Given the description of an element on the screen output the (x, y) to click on. 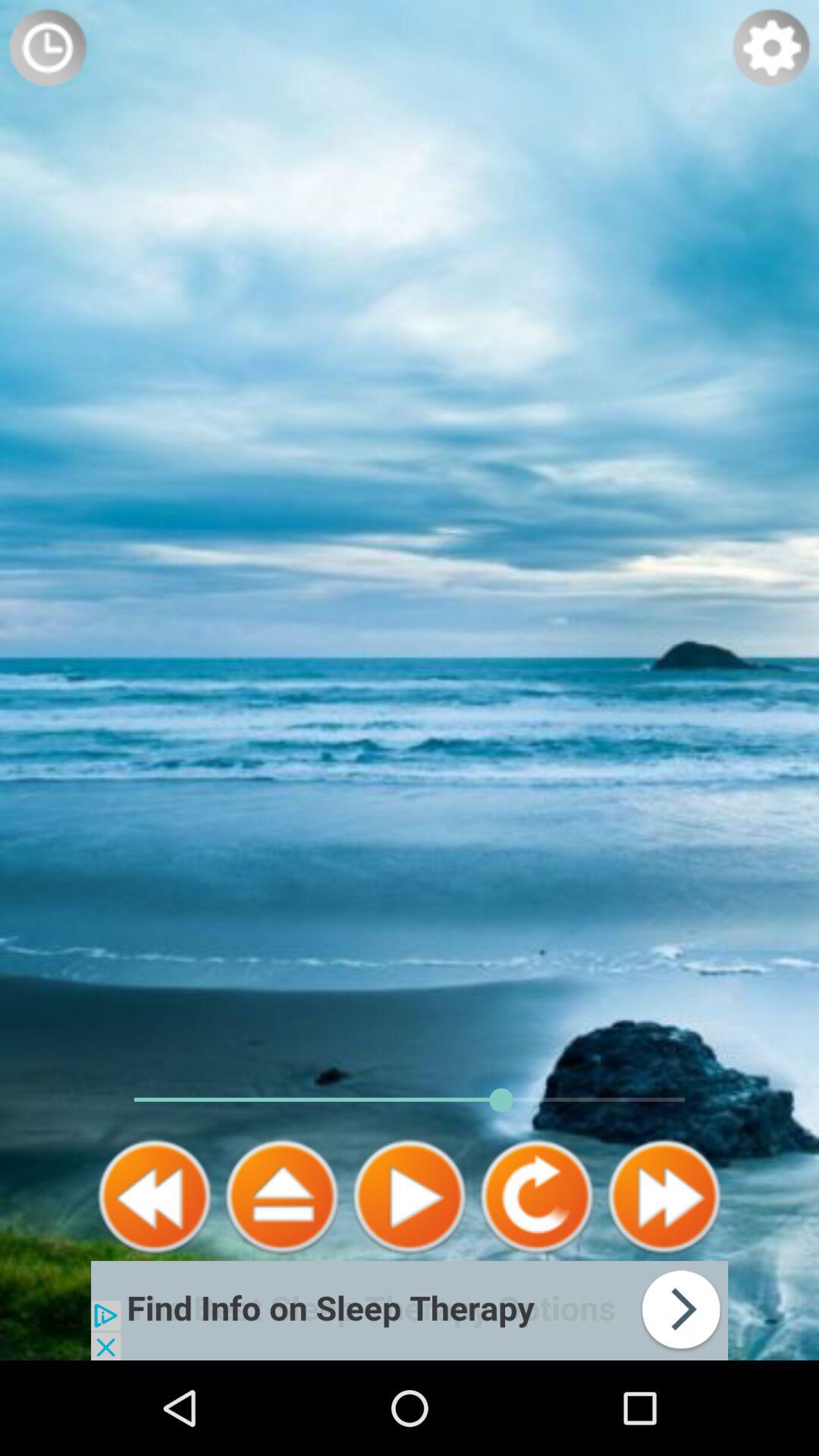
play again (536, 1196)
